Given the description of an element on the screen output the (x, y) to click on. 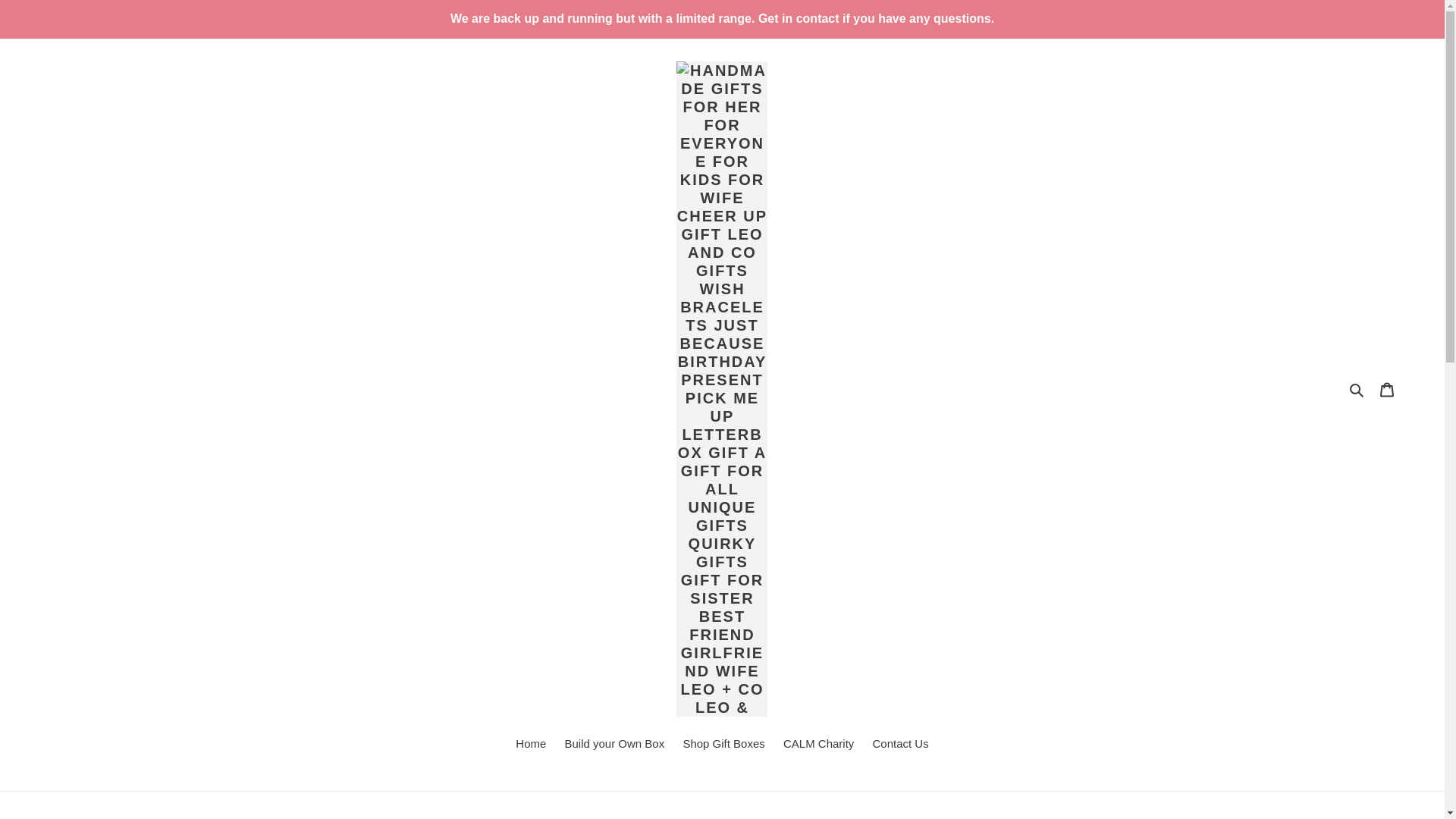
CALM Charity (818, 745)
Search (1357, 389)
Build your Own Box (613, 745)
Home (530, 745)
Cart (1387, 389)
Contact Us (900, 745)
Shop Gift Boxes (723, 745)
